Given the description of an element on the screen output the (x, y) to click on. 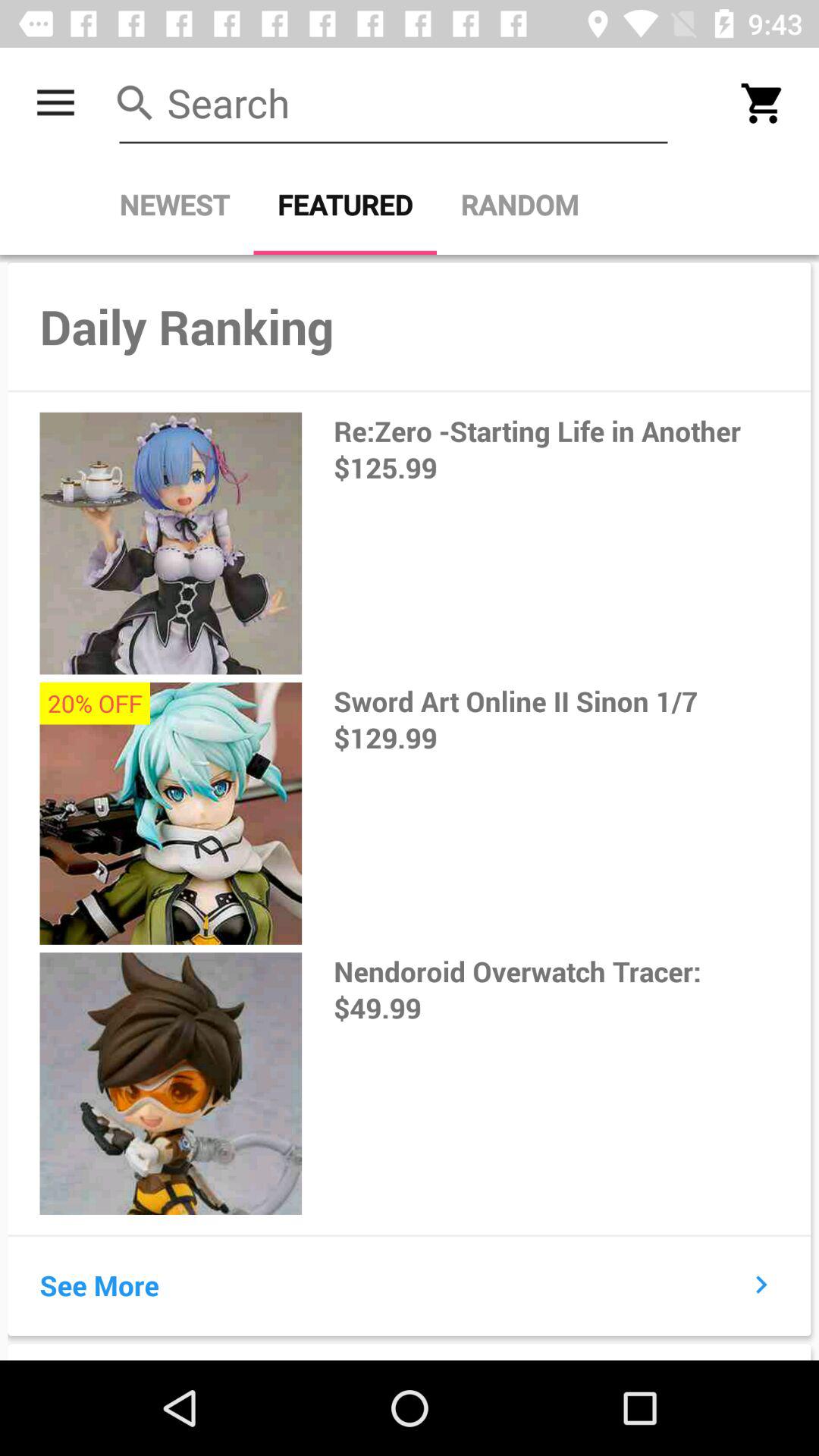
search field (393, 103)
